Given the description of an element on the screen output the (x, y) to click on. 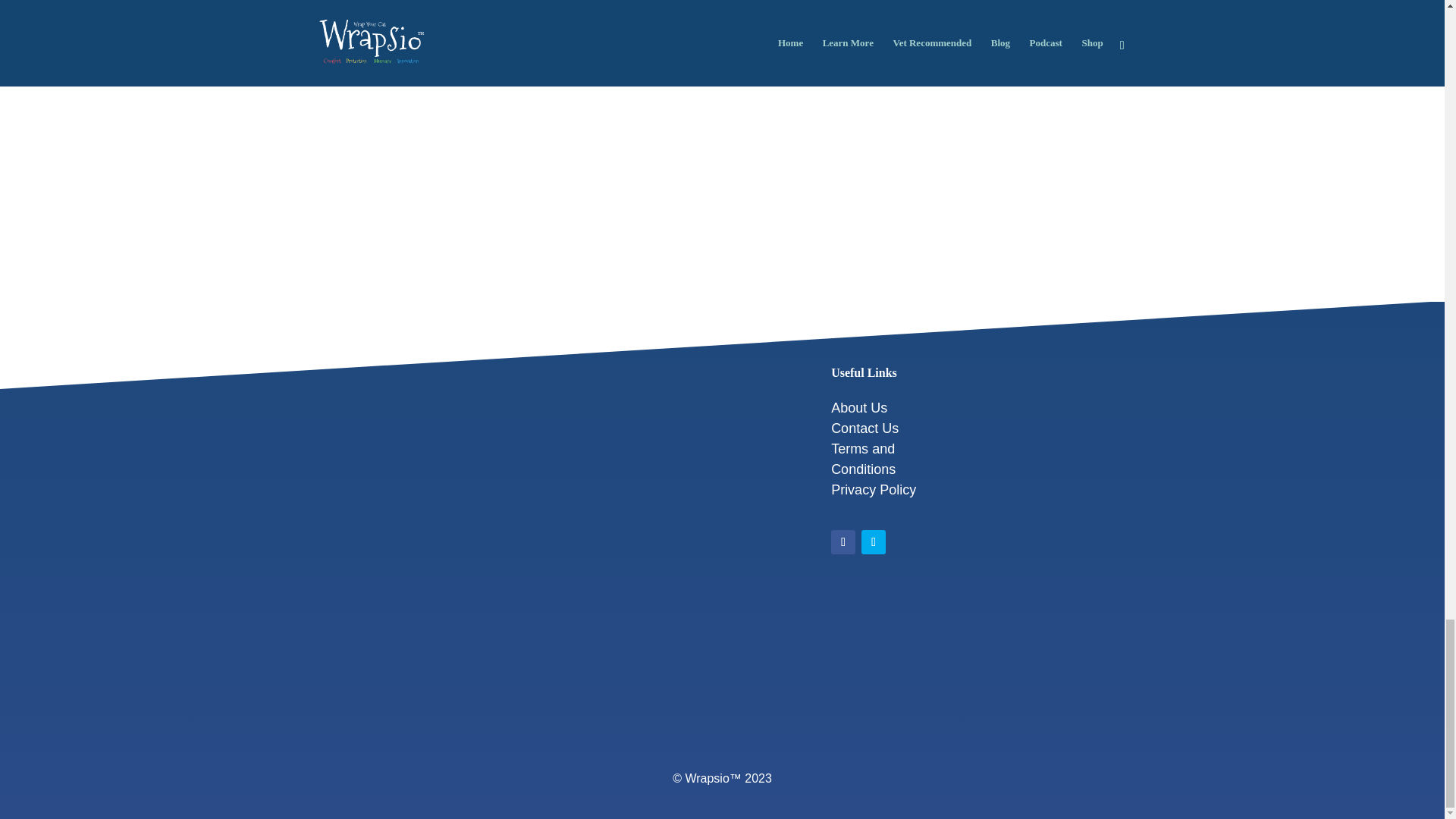
Follow on Facebook (843, 541)
Contact Us (864, 427)
About Us (858, 407)
Privacy Policy (873, 489)
Terms and Conditions (863, 458)
Follow on Twitter (873, 541)
